Given the description of an element on the screen output the (x, y) to click on. 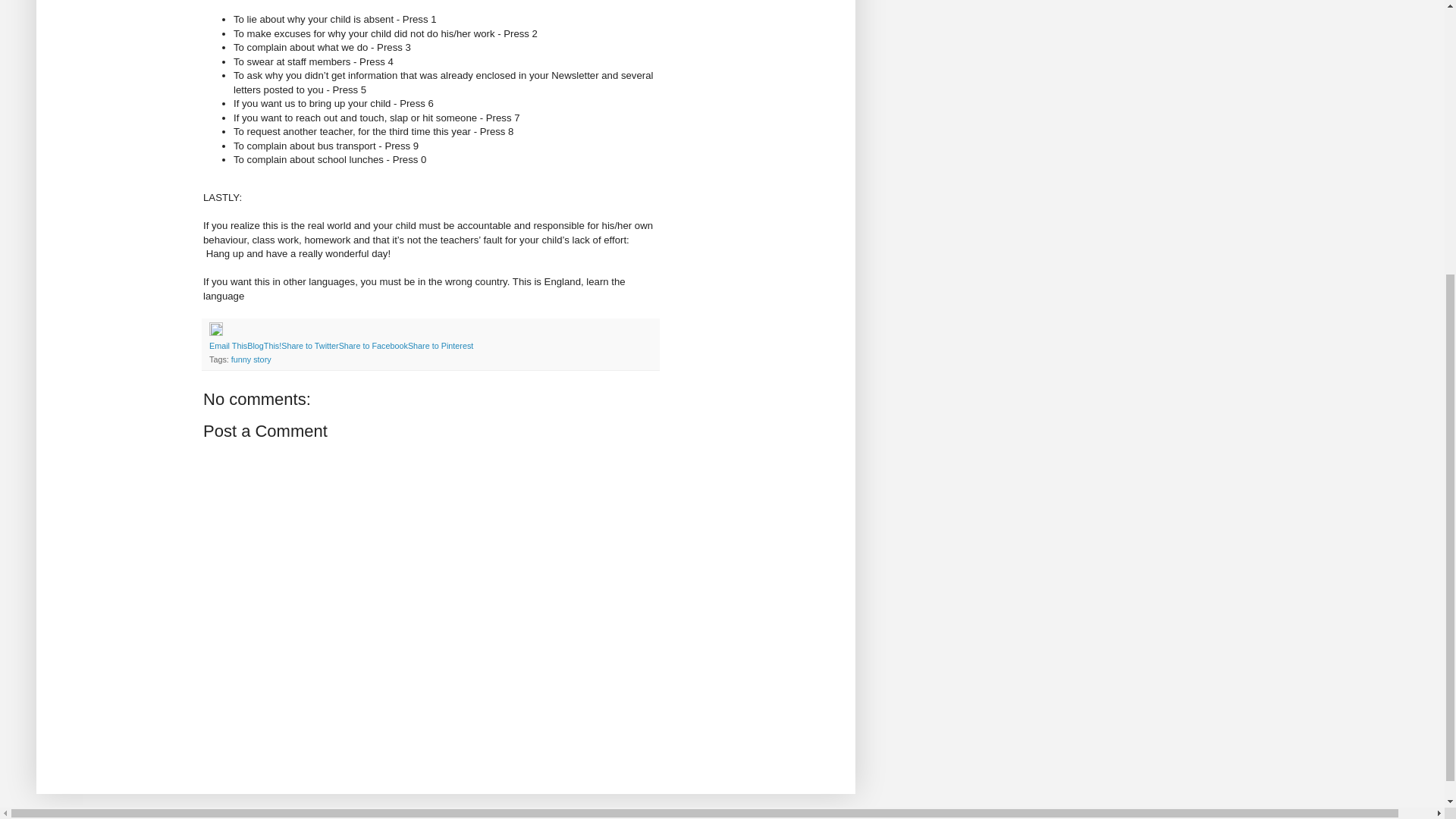
funny story (250, 358)
Share to Twitter (309, 345)
Share to Pinterest (440, 345)
Email This (228, 345)
BlogThis! (264, 345)
BlogThis! (264, 345)
Email This (228, 345)
Share to Pinterest (440, 345)
Share to Facebook (373, 345)
Share to Twitter (309, 345)
Share to Facebook (373, 345)
Edit Post (215, 332)
